Given the description of an element on the screen output the (x, y) to click on. 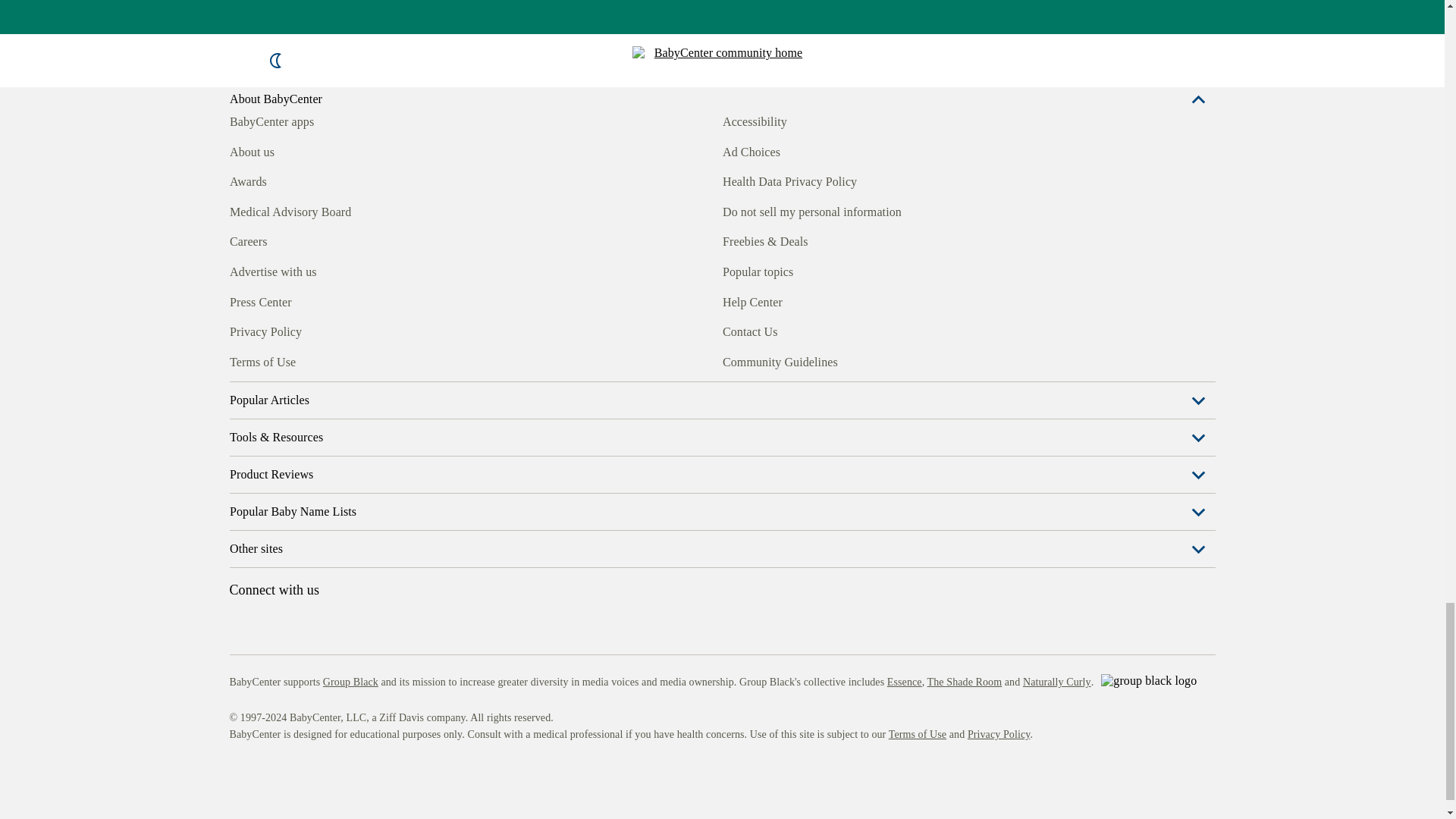
BabyCenter Pinterest board (309, 359)
BabyCenter Instagram feed (274, 359)
BabyCenter YouTube channel (344, 359)
BabyCenter Twitter feed (379, 359)
BabyCenter Facebook page (239, 359)
